Given the description of an element on the screen output the (x, y) to click on. 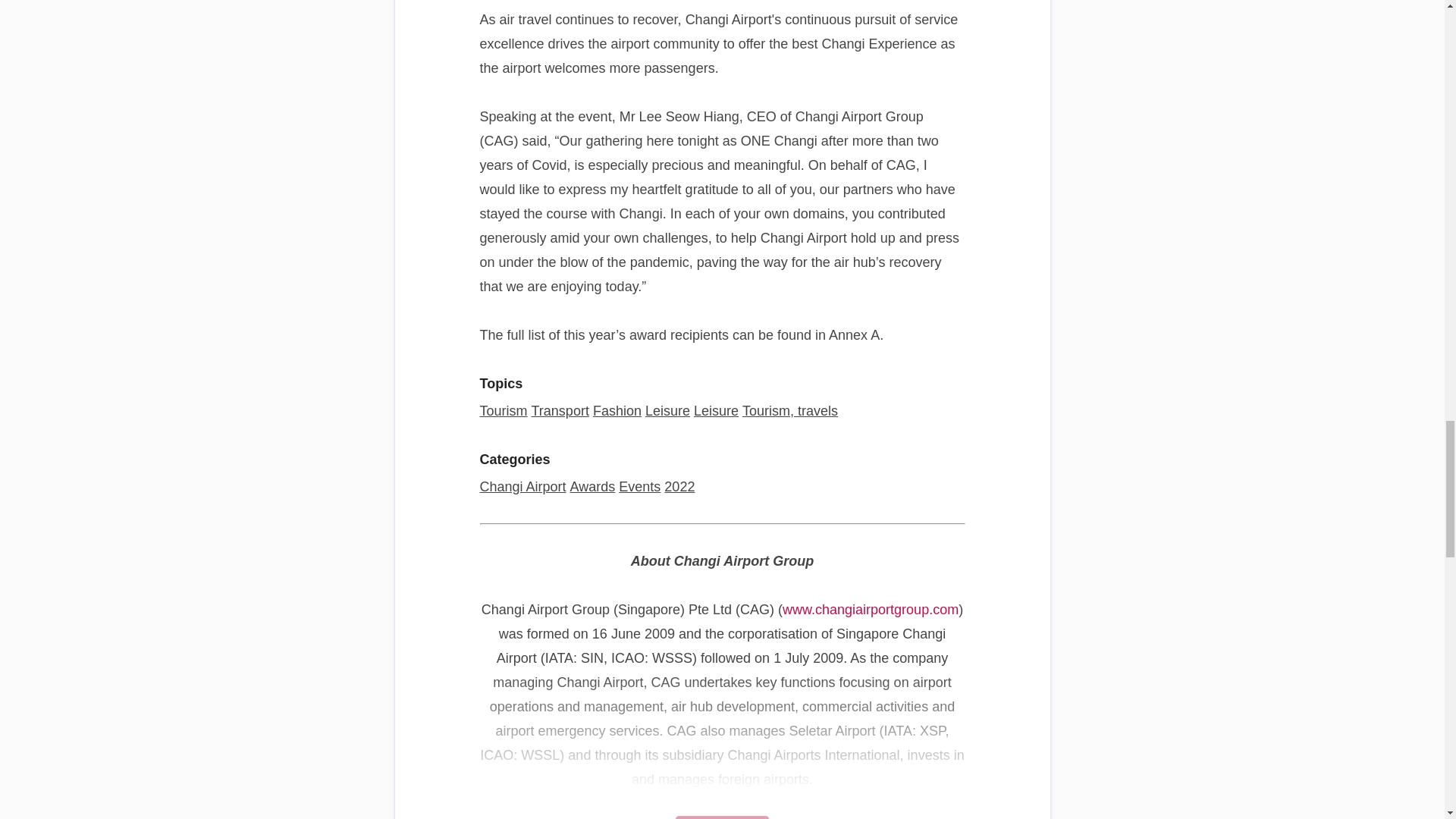
Events (639, 486)
Tourism, travels (790, 410)
Fashion (617, 410)
Transport (560, 410)
Tourism (503, 410)
www.changiairportgroup.com (870, 609)
2022 (678, 486)
Changi Airport (522, 486)
Leisure (716, 410)
Read more (721, 817)
